Given the description of an element on the screen output the (x, y) to click on. 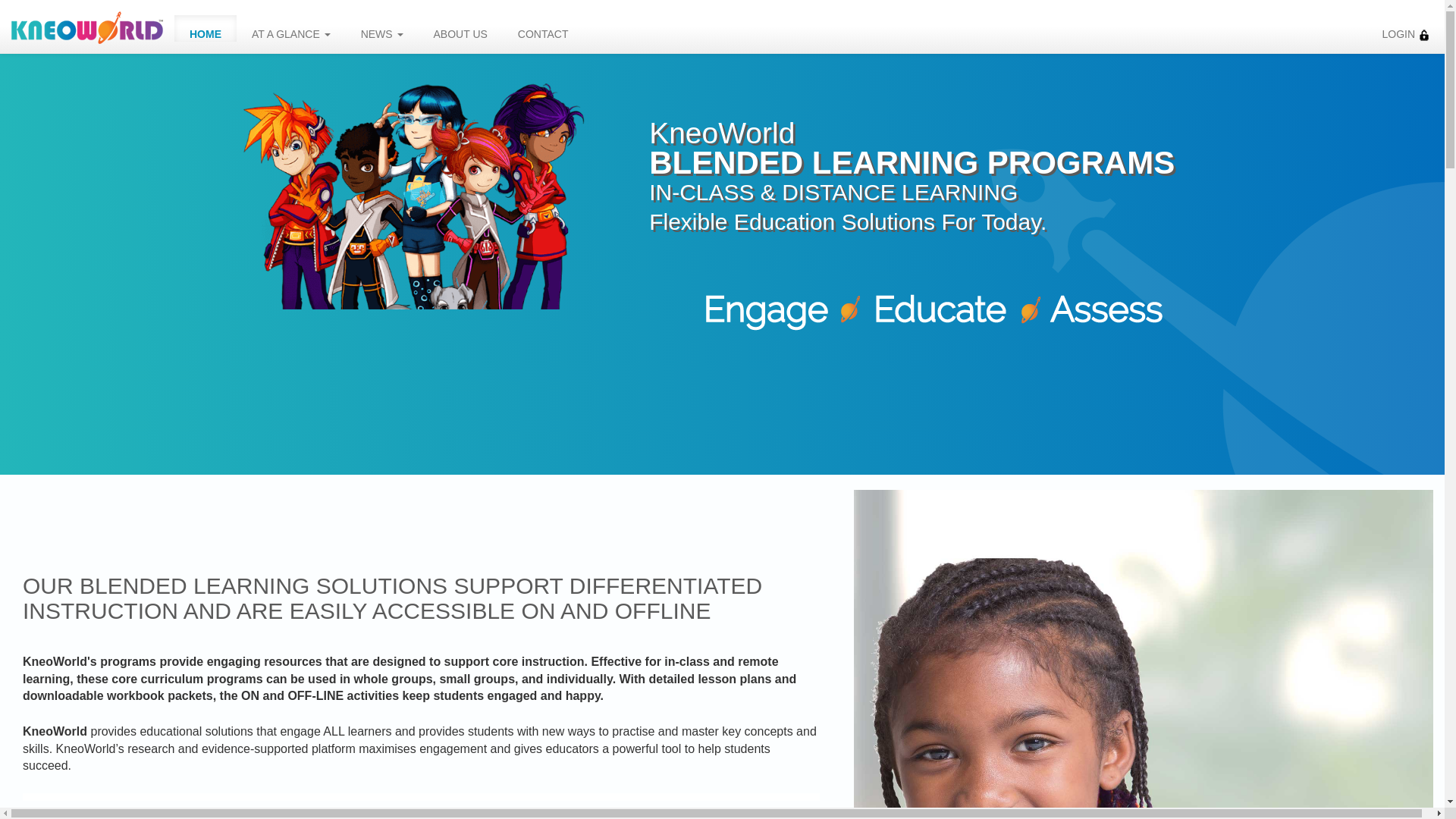
HOME (204, 28)
NEWS (382, 28)
CONTACT (542, 28)
NEWS (382, 28)
CONTACT (542, 28)
AT A GLANCE (290, 28)
ABOUT US (460, 28)
AT A GLANCE (290, 28)
ABOUT US (460, 28)
LOGIN (1405, 28)
